Given the description of an element on the screen output the (x, y) to click on. 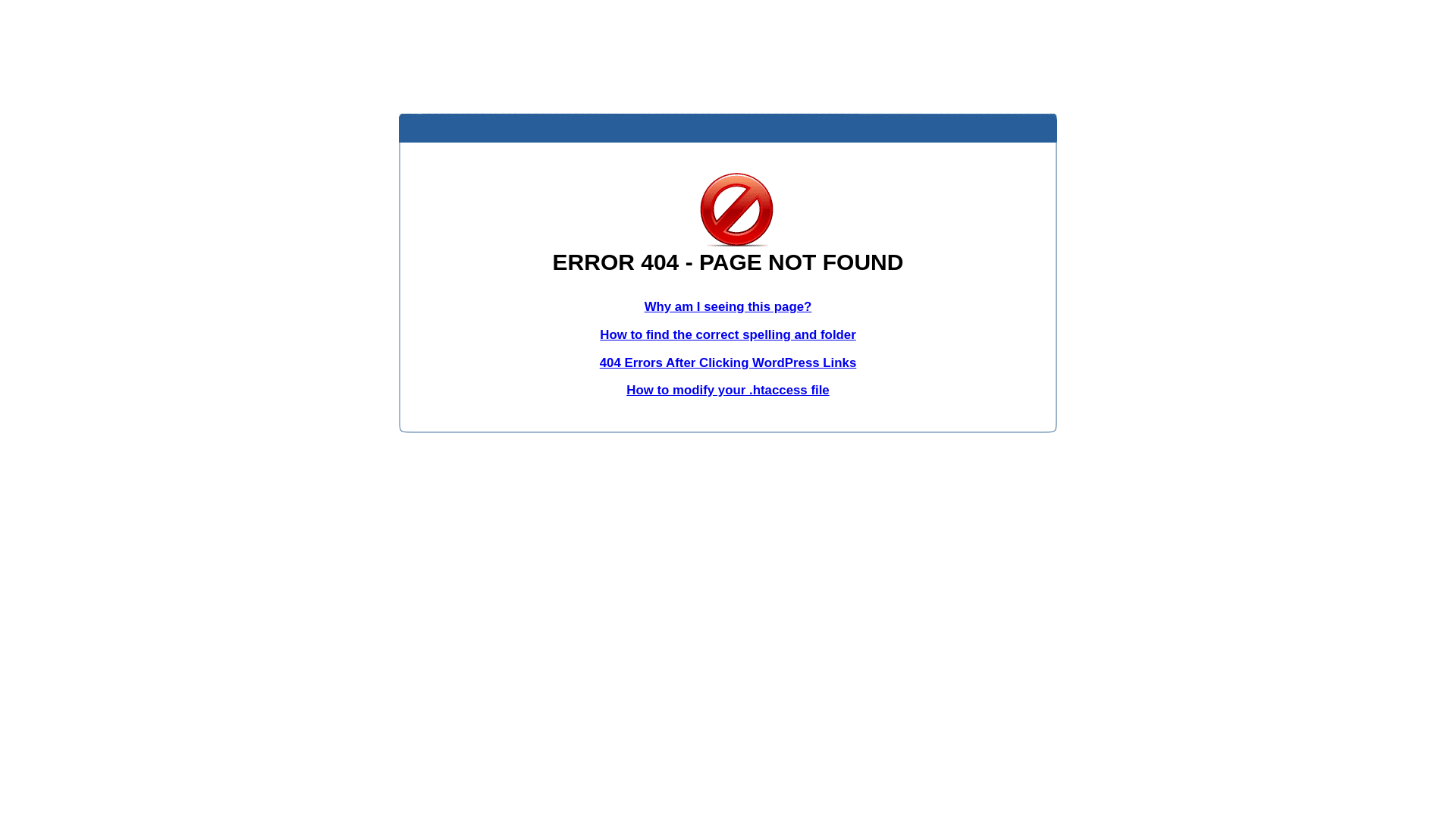
How to find the correct spelling and folder Element type: text (727, 334)
How to modify your .htaccess file Element type: text (727, 389)
Why am I seeing this page? Element type: text (728, 306)
404 Errors After Clicking WordPress Links Element type: text (727, 362)
